Given the description of an element on the screen output the (x, y) to click on. 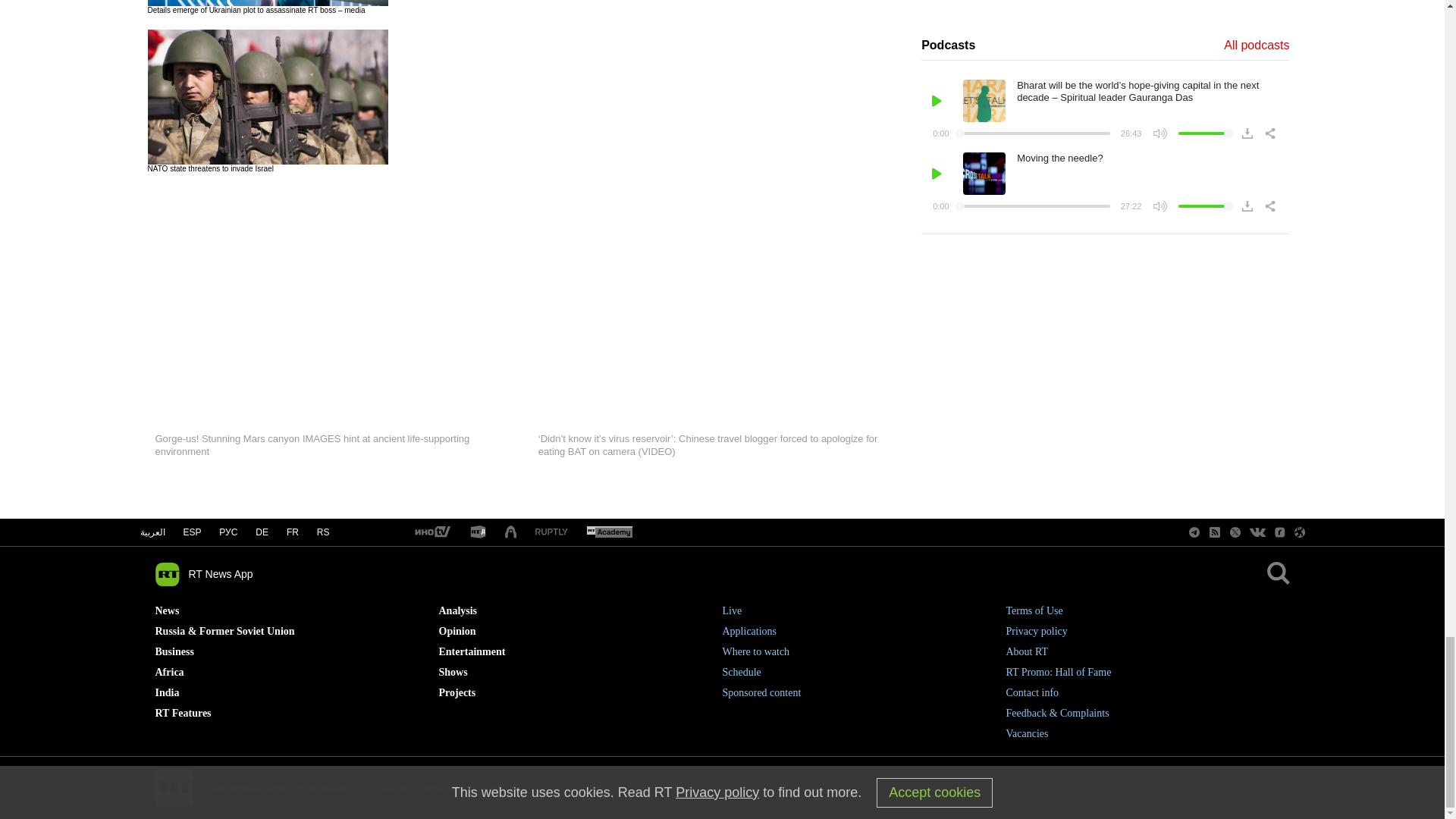
RT  (431, 532)
RT  (608, 532)
RT  (551, 532)
RT  (478, 532)
